Given the description of an element on the screen output the (x, y) to click on. 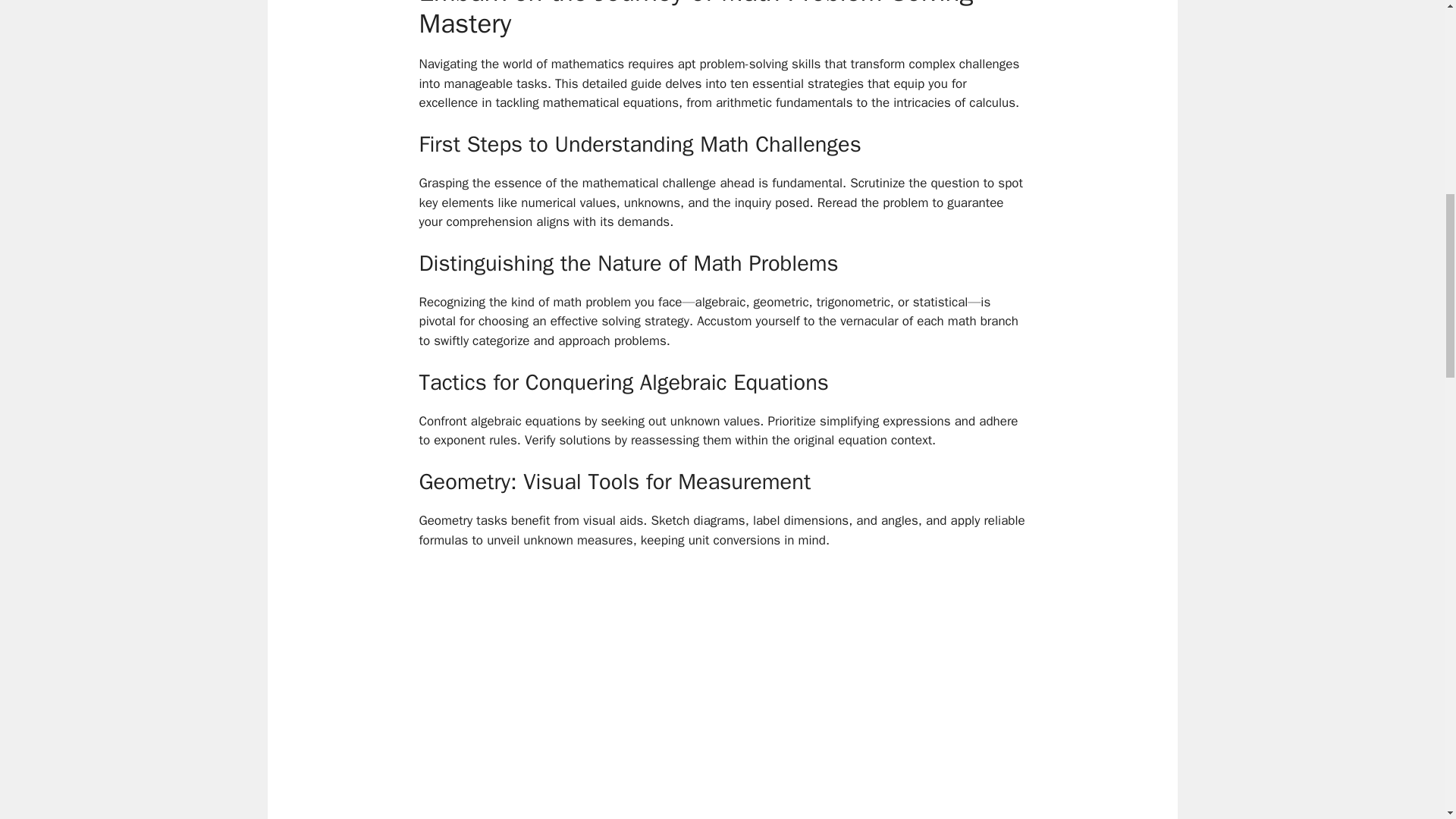
Scroll back to top (1406, 719)
